Given the description of an element on the screen output the (x, y) to click on. 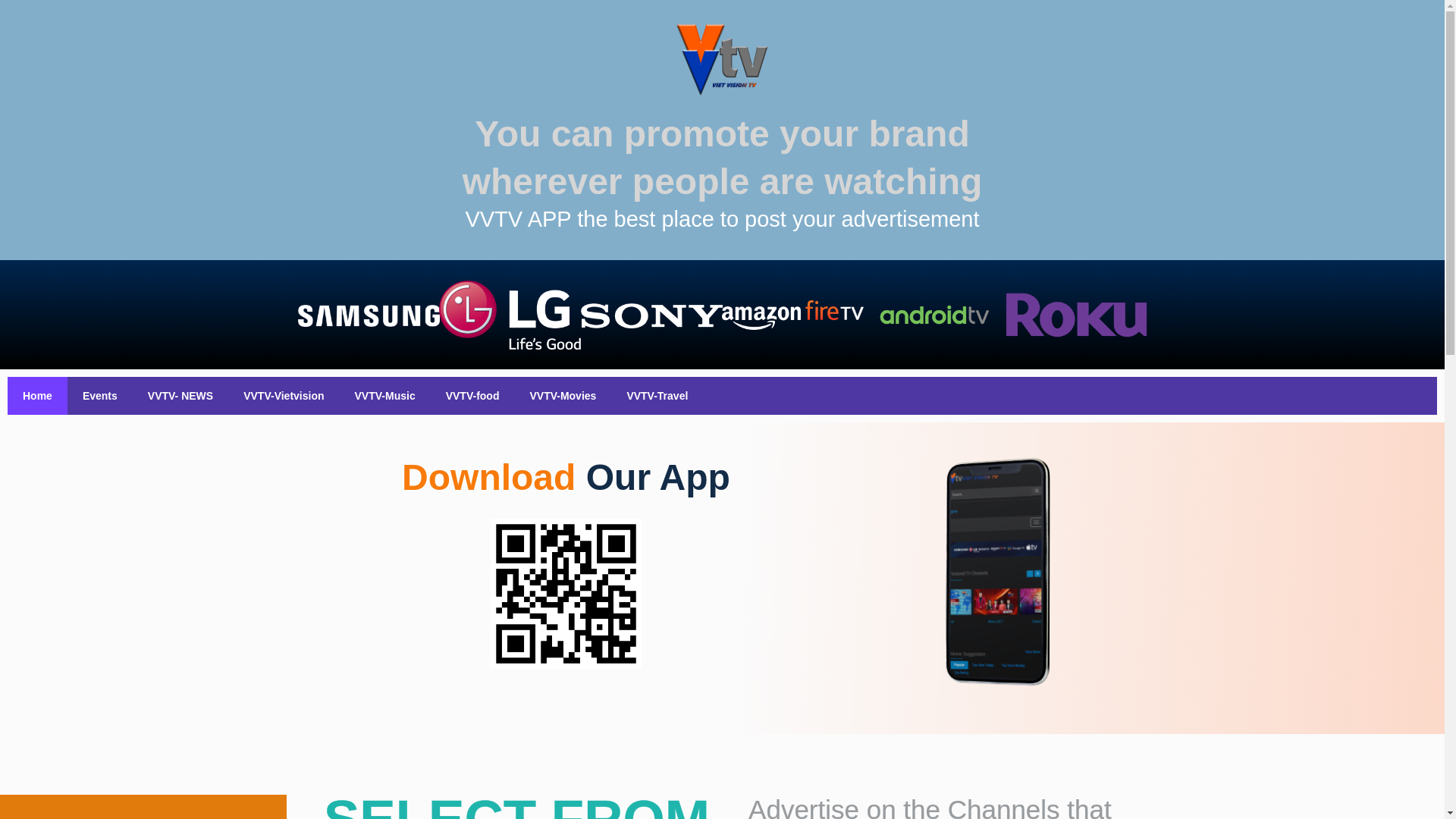
VVTV-Movies (562, 395)
vvtv-codeapp (565, 593)
Viet-Vision-Logo-Ver-1.png (721, 60)
VVTV-Vietvision (283, 395)
VVTV-food (472, 395)
Events (99, 395)
VVTV-Travel (657, 395)
Home (36, 395)
VVTV-Music (384, 395)
VVTV- NEWS (180, 395)
